Given the description of an element on the screen output the (x, y) to click on. 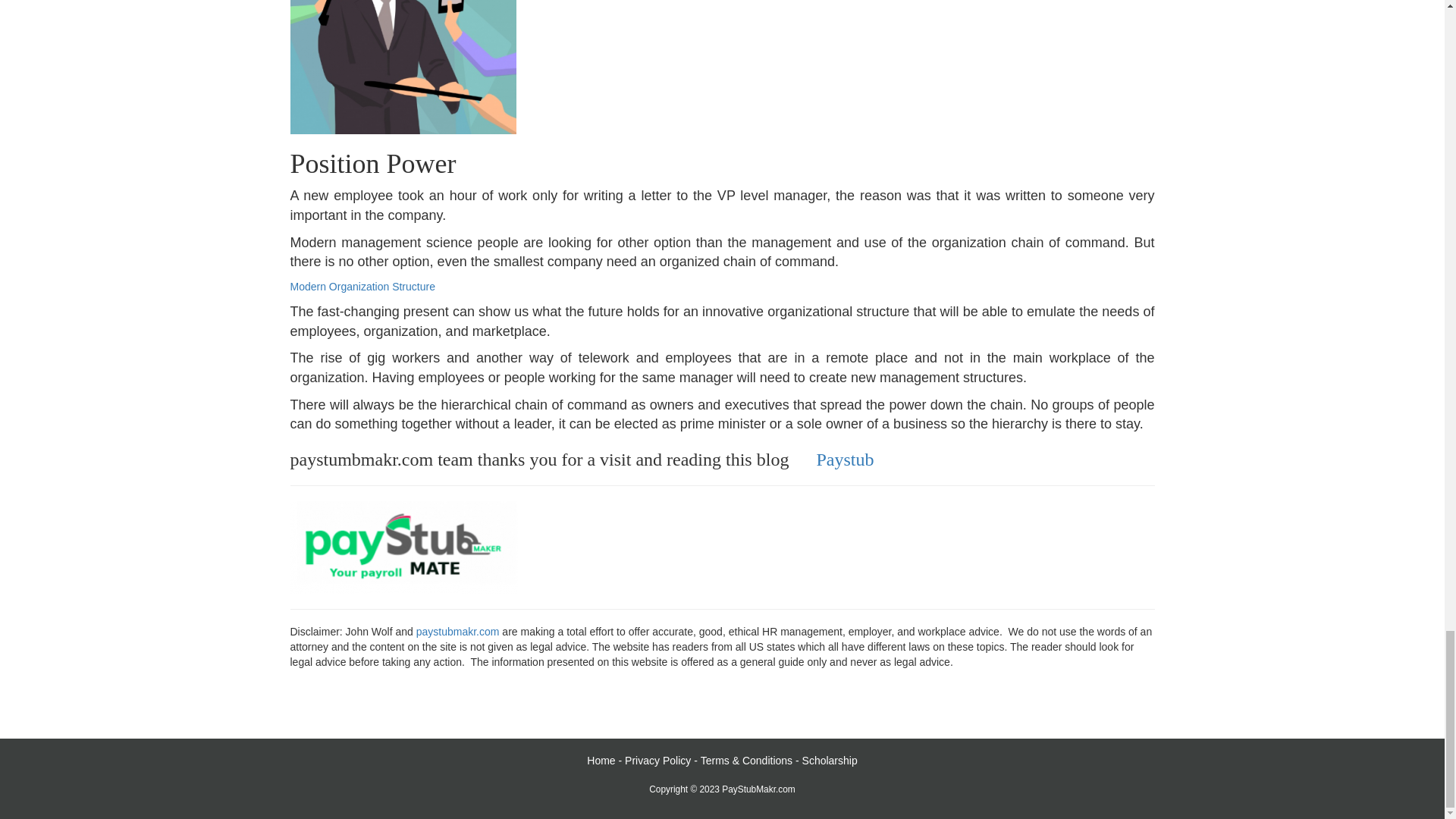
paystubmakr.com (457, 631)
Scholarship (829, 760)
Privacy Policy (657, 760)
Modern Organization Structure (361, 286)
PayStubMakr.com (758, 788)
Paystub (844, 459)
Scholarship (829, 760)
Homepage (600, 760)
Privacy Policy (657, 760)
Home (600, 760)
